Given the description of an element on the screen output the (x, y) to click on. 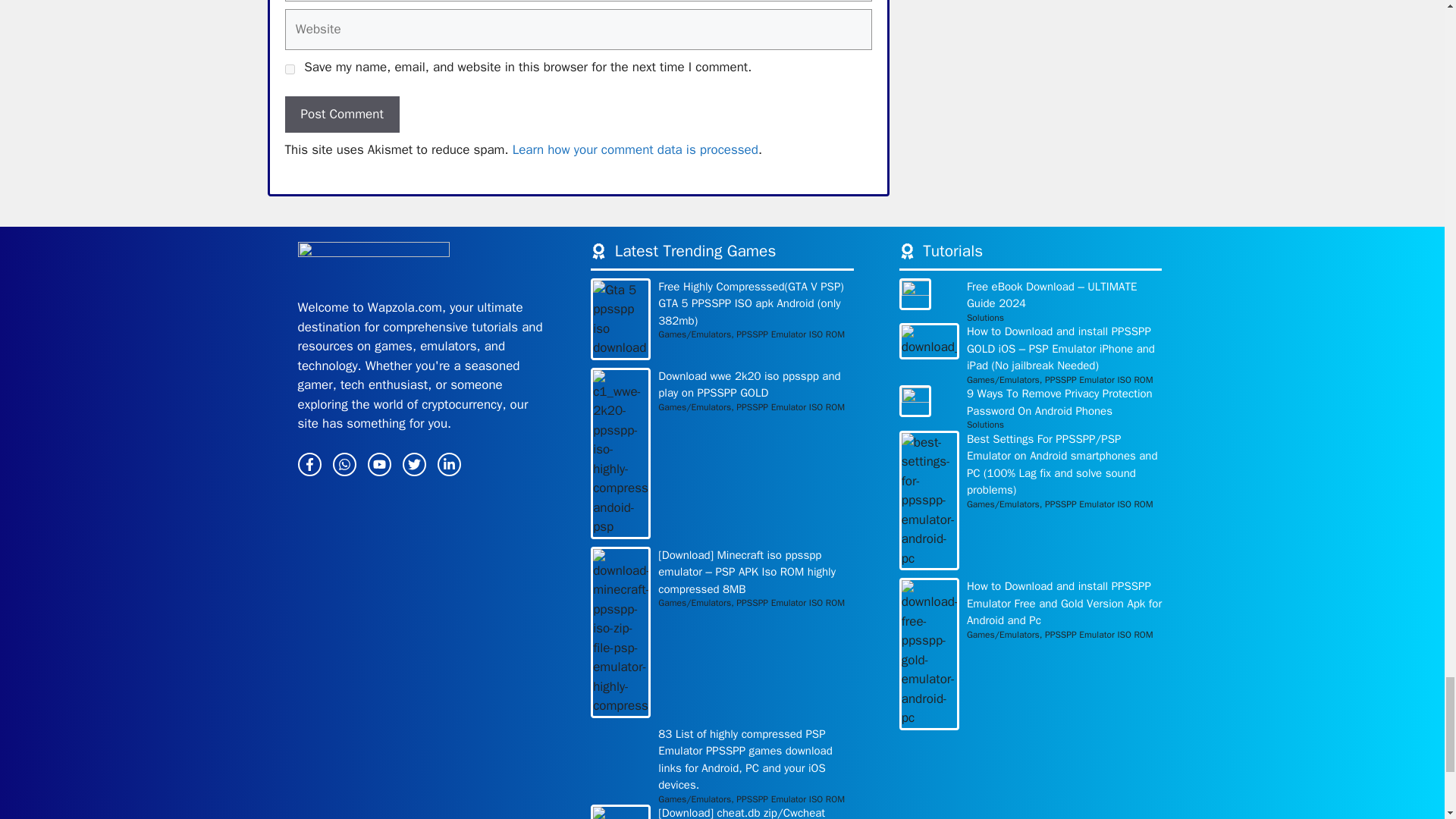
yes (290, 69)
Post Comment (341, 114)
